Given the description of an element on the screen output the (x, y) to click on. 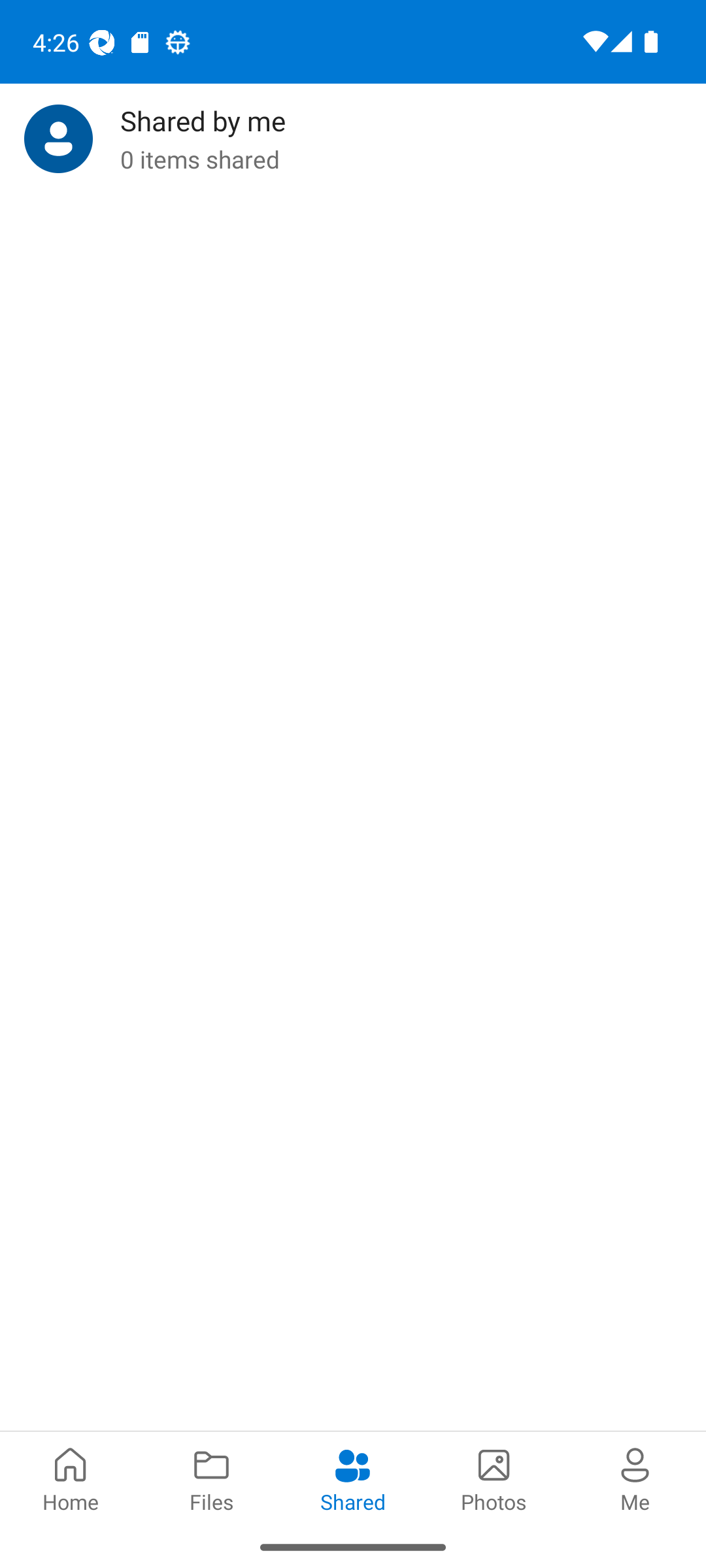
0 Shared by me 0 items shared (353, 138)
Home pivot Home (70, 1478)
Files pivot Files (211, 1478)
Photos pivot Photos (493, 1478)
Me pivot Me (635, 1478)
